Given the description of an element on the screen output the (x, y) to click on. 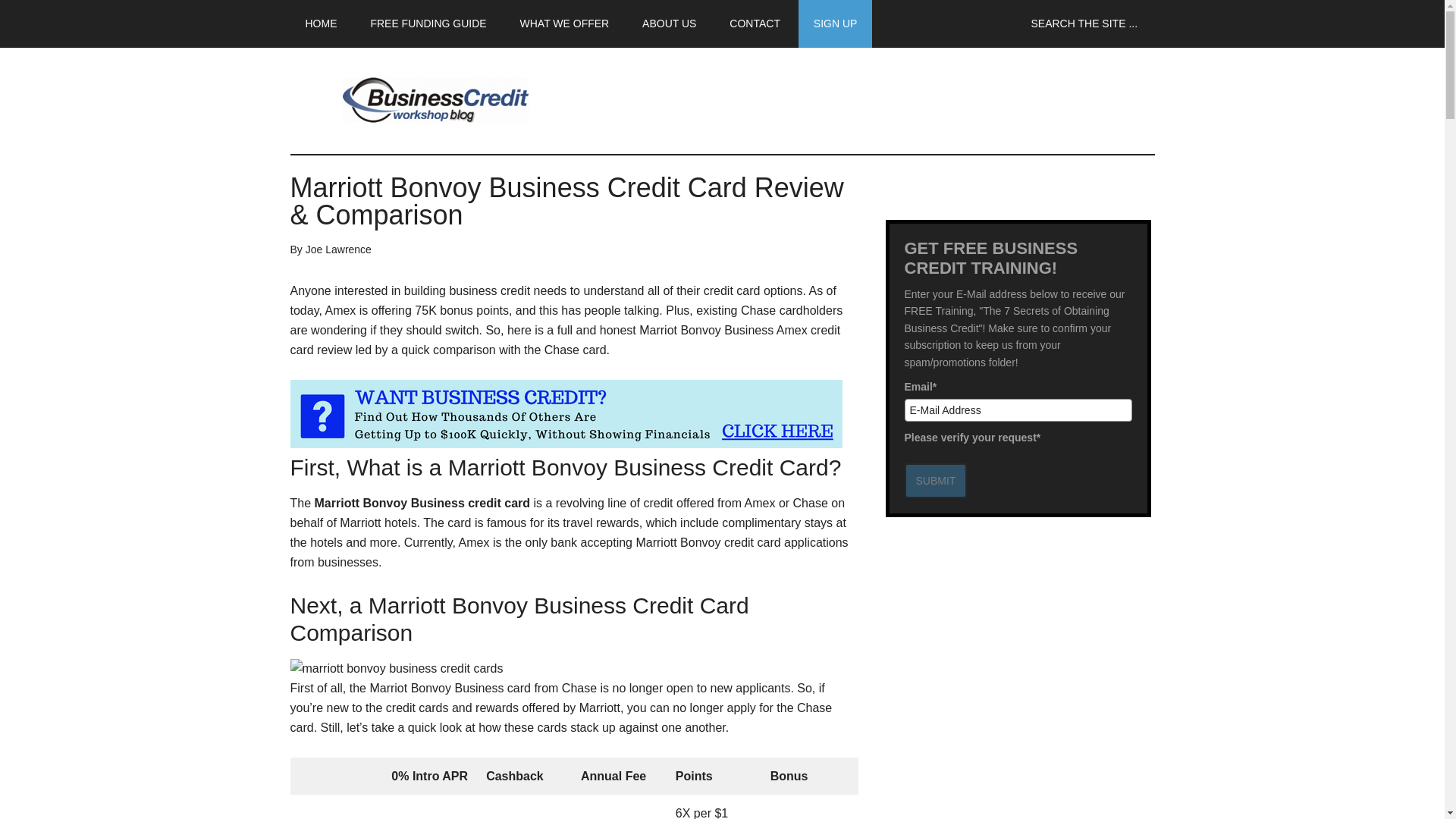
CONTACT (754, 23)
FREE FUNDING GUIDE (427, 23)
WHAT WE OFFER (564, 23)
SUBMIT (935, 480)
ABOUT US (669, 23)
HOME (320, 23)
SIGN UP (834, 23)
Joe Lawrence (338, 249)
